Given the description of an element on the screen output the (x, y) to click on. 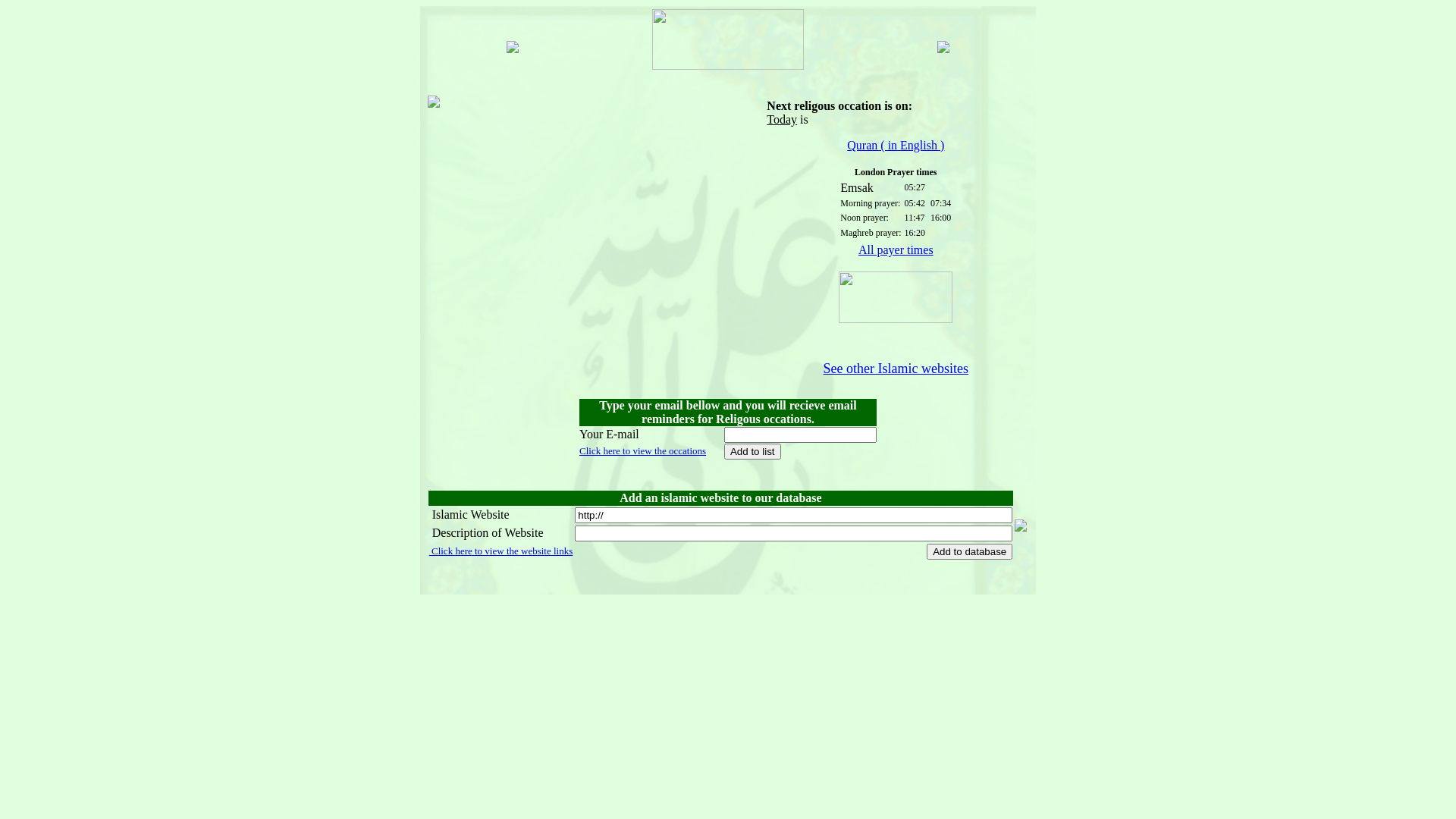
Add to list Element type: text (752, 451)
Quran ( in English ) Element type: text (895, 144)
Add to database Element type: text (969, 551)
Click here to view the occations Element type: text (642, 450)
All payer times Element type: text (895, 249)
See other Islamic websites Element type: text (895, 368)
 Click here to view the website links Element type: text (501, 550)
